Given the description of an element on the screen output the (x, y) to click on. 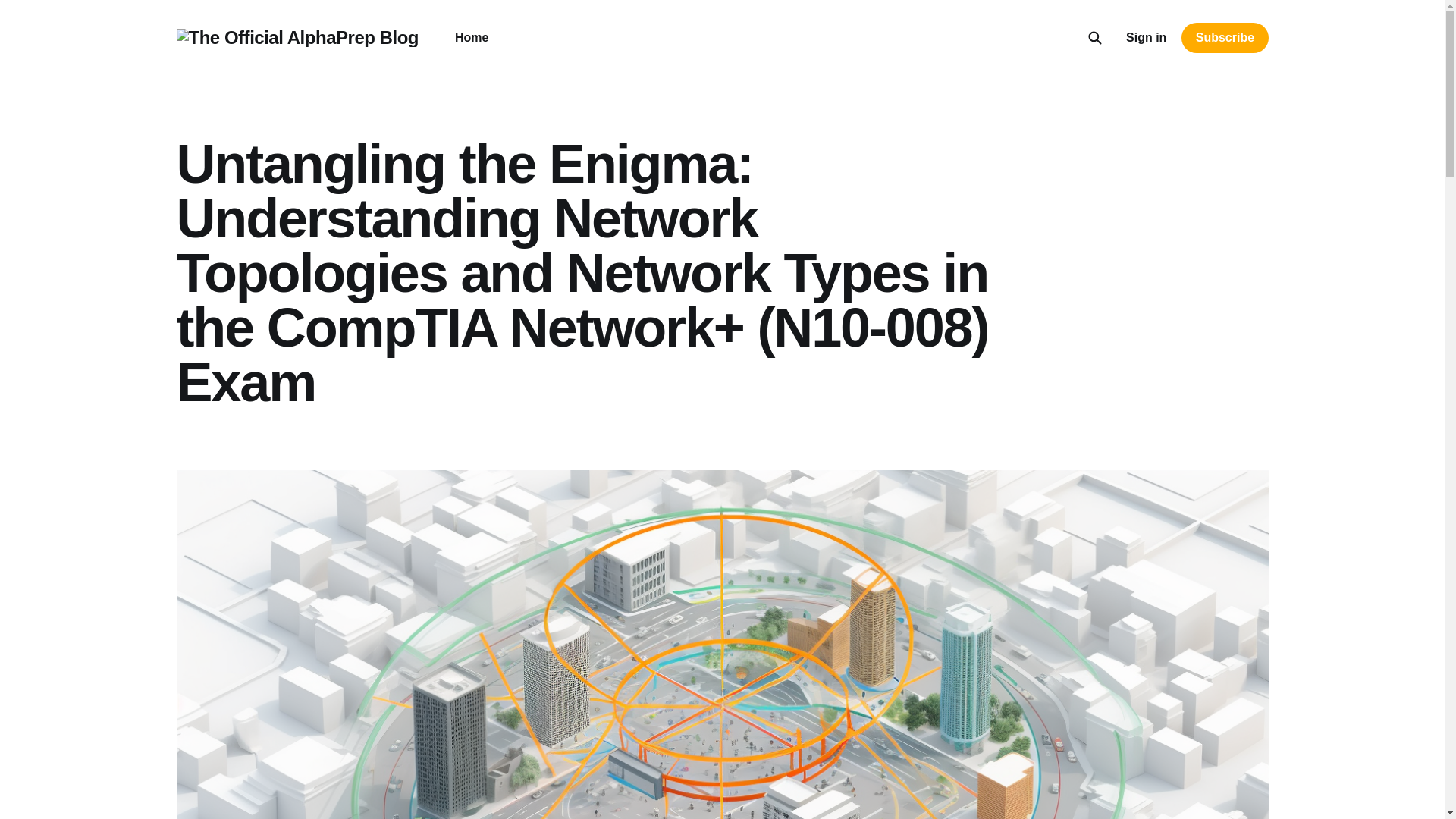
Sign in (1145, 37)
Home (470, 37)
Subscribe (1224, 37)
